Given the description of an element on the screen output the (x, y) to click on. 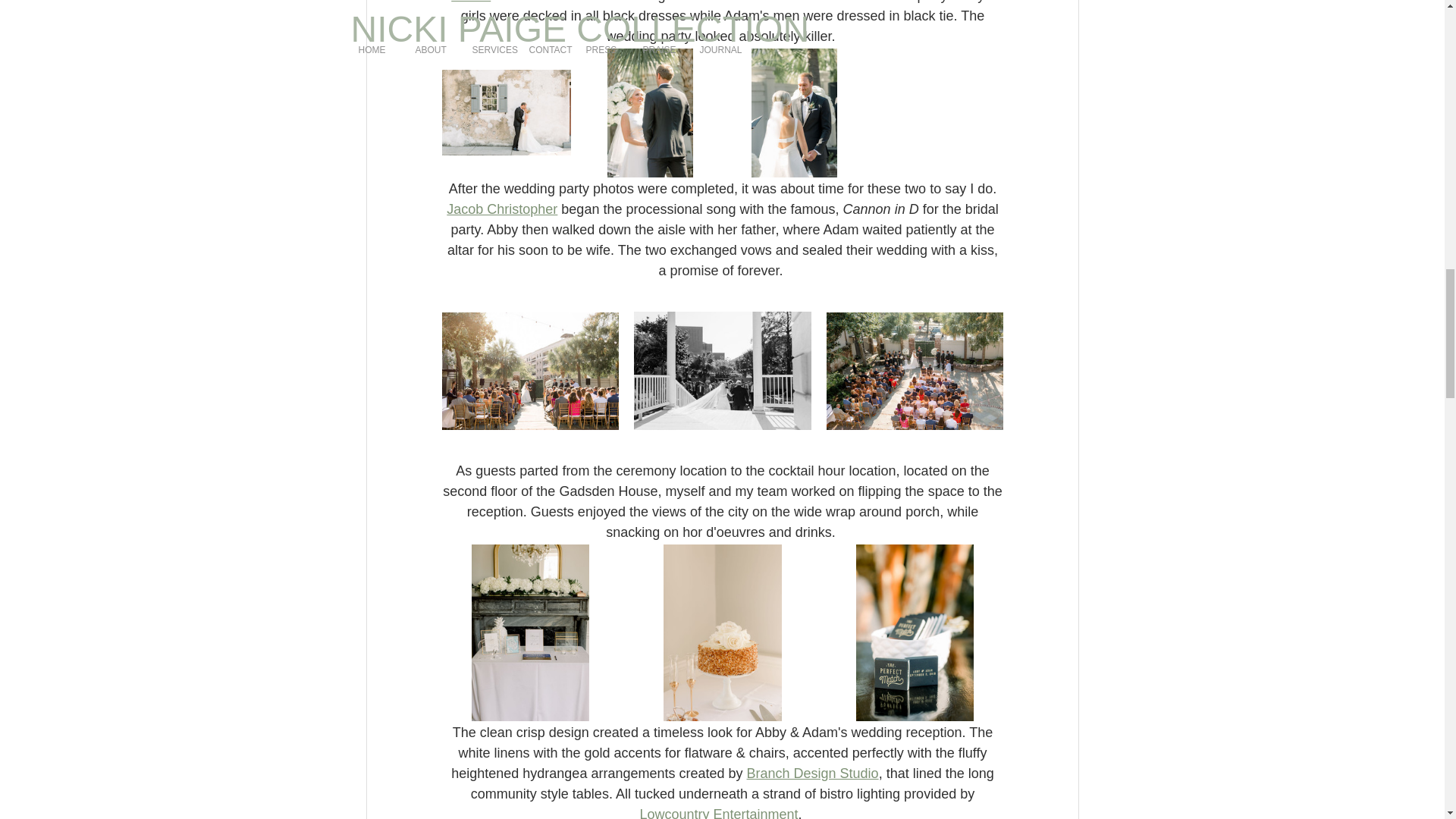
Jacob Christopher (501, 209)
Branch Design Studio (811, 773)
Lowcountry Entertainment (718, 812)
